Given the description of an element on the screen output the (x, y) to click on. 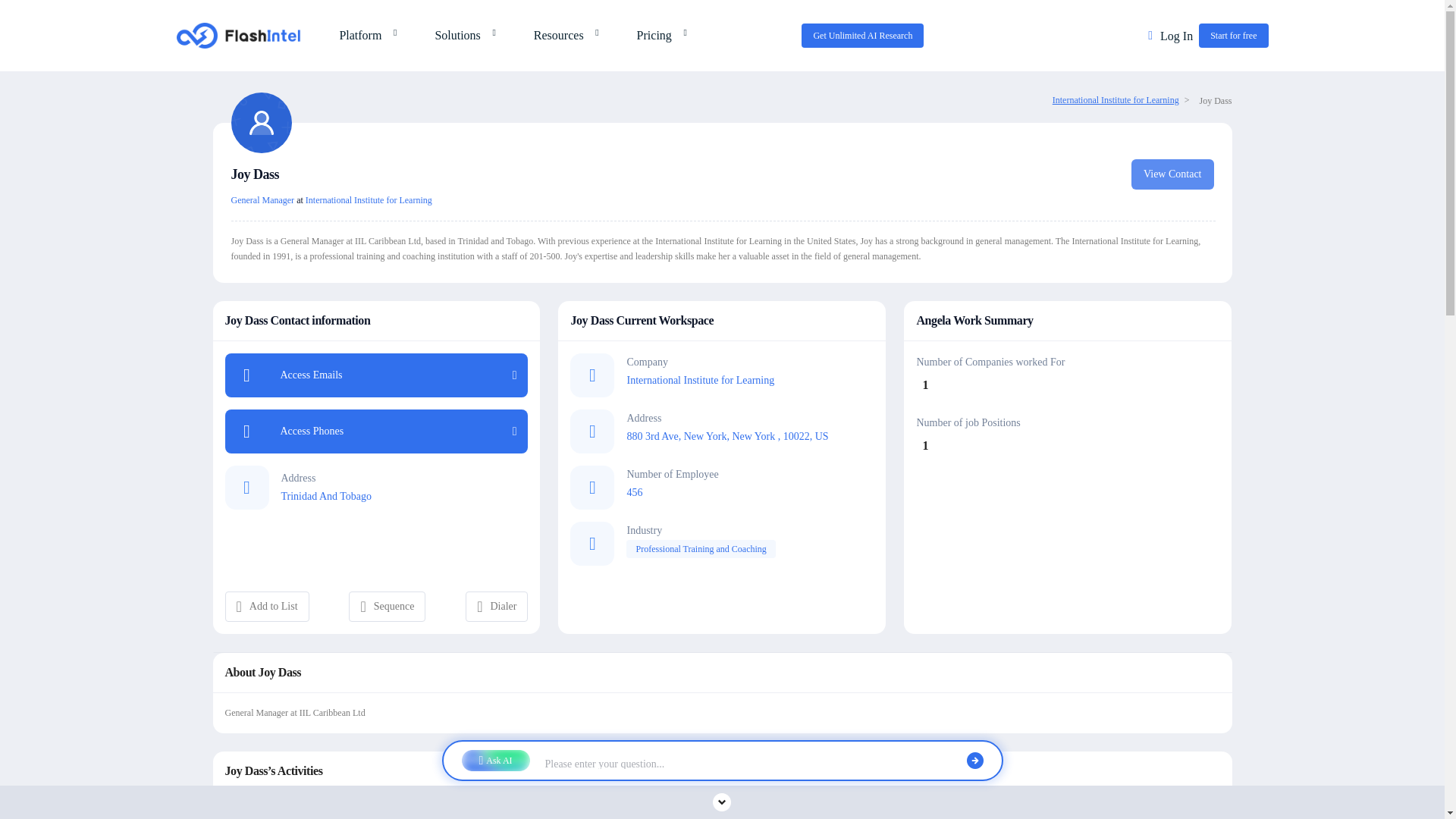
Platform (363, 34)
Solutions (461, 34)
